Given the description of an element on the screen output the (x, y) to click on. 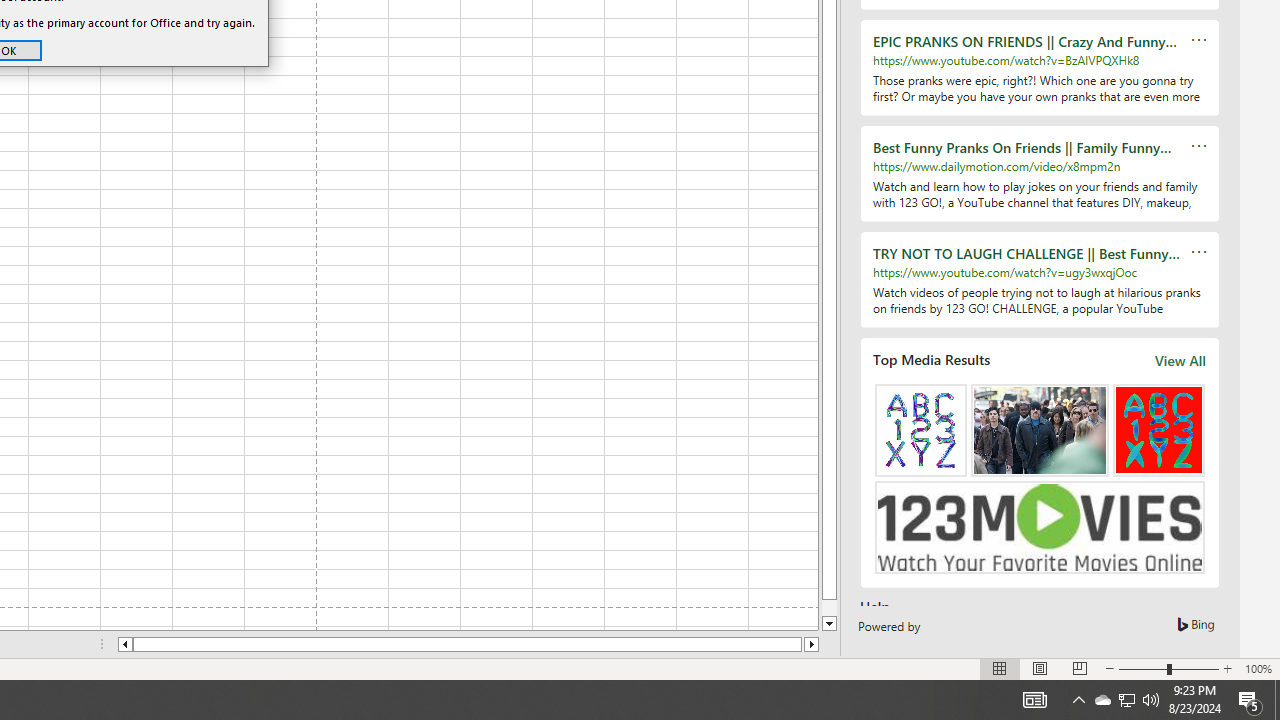
Show desktop (1277, 699)
Line down (1126, 699)
Column right (829, 624)
